Given the description of an element on the screen output the (x, y) to click on. 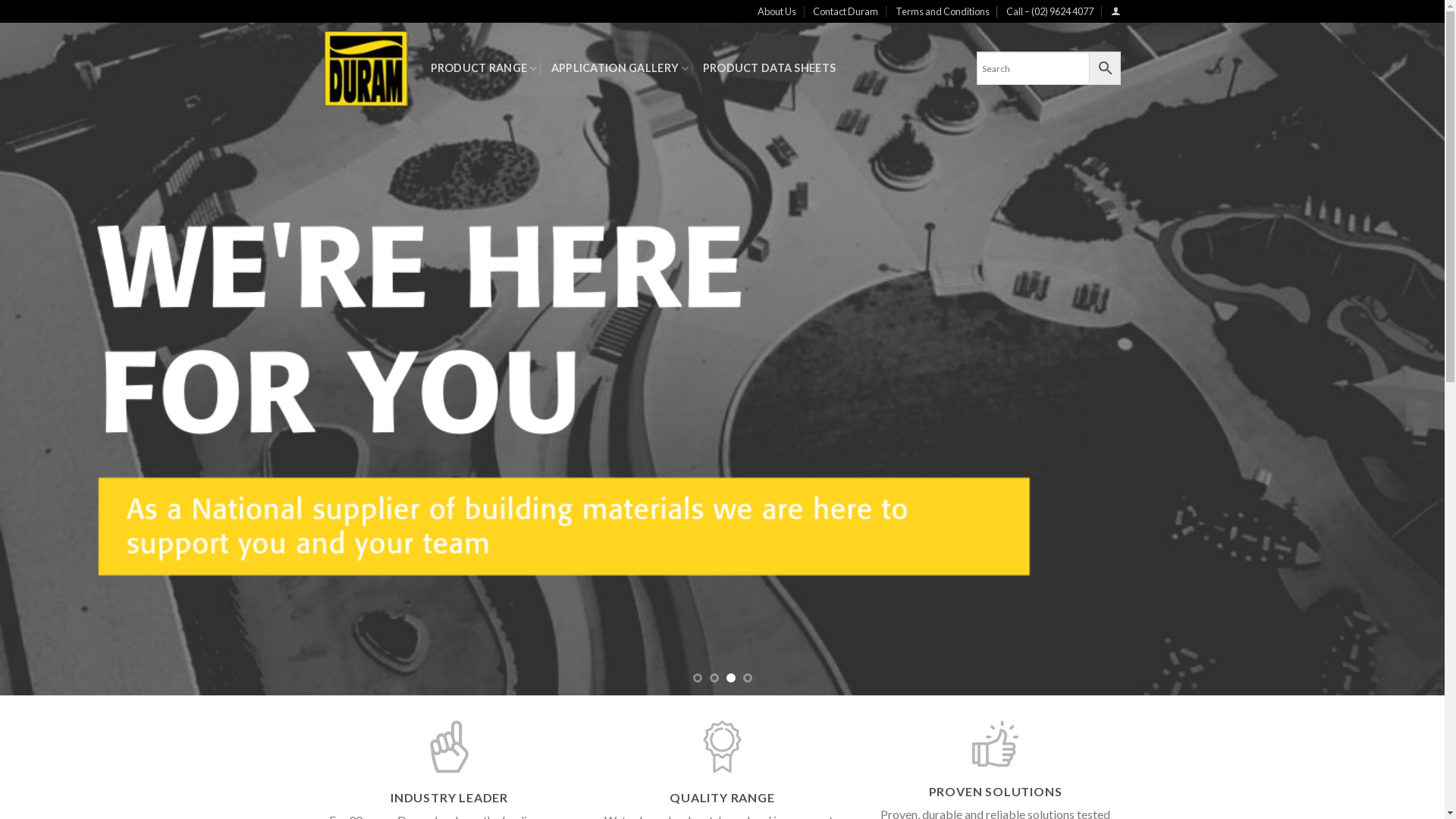
PRODUCT RANGE Element type: text (483, 68)
Terms and Conditions Element type: text (942, 11)
PRODUCT DATA SHEETS Element type: text (768, 67)
About Us Element type: text (776, 11)
APPLICATION GALLERY Element type: text (620, 68)
Contact Duram Element type: text (845, 11)
Duram - Waterproofing and Sealants Building Products Element type: hover (365, 68)
VIEW OUR WATERPROOFING EXAMPLES Element type: text (947, 351)
